Given the description of an element on the screen output the (x, y) to click on. 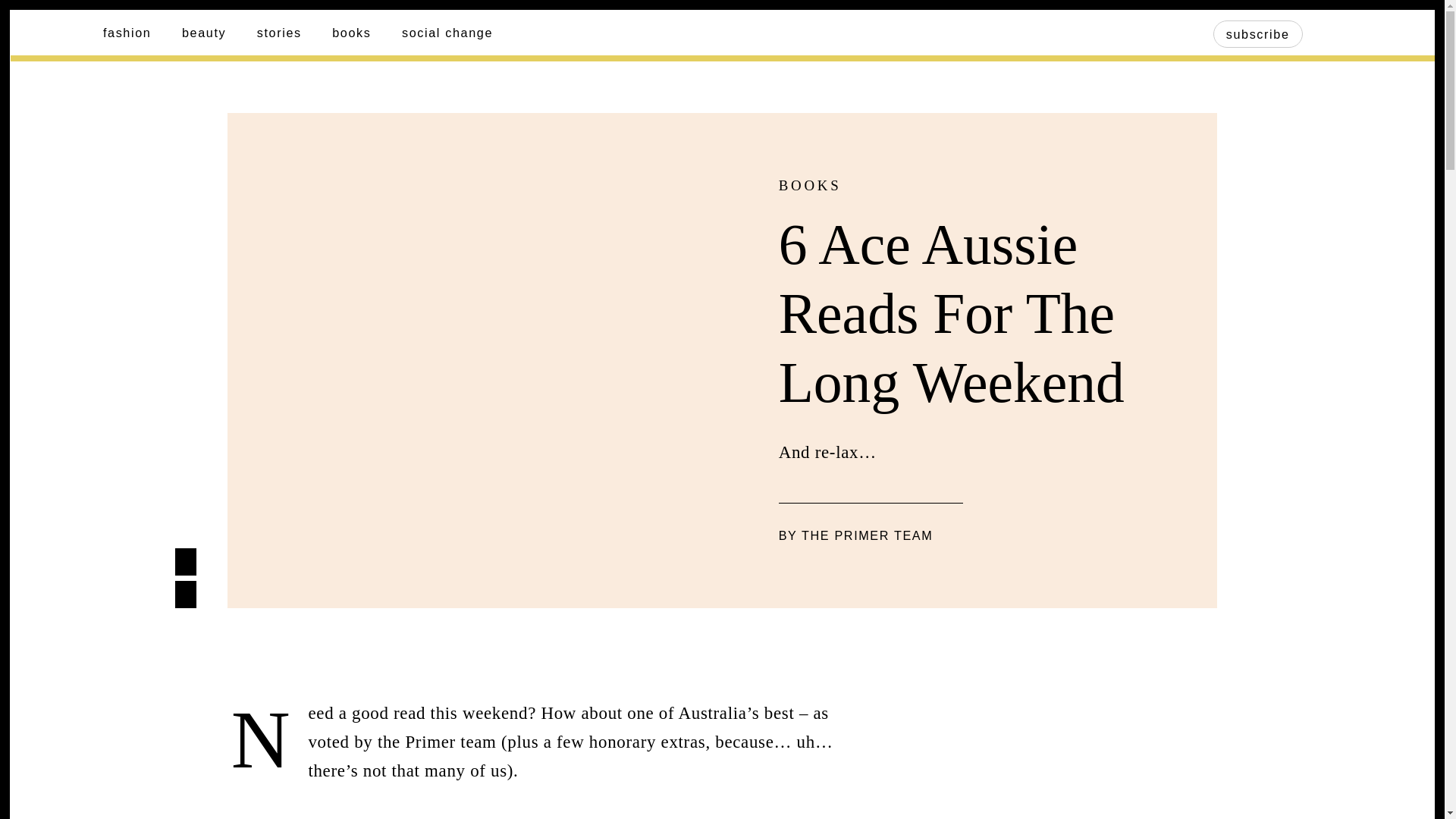
stories (279, 32)
fashion (127, 32)
books (351, 32)
beauty (203, 32)
subscribe (1257, 33)
social change (447, 32)
